Given the description of an element on the screen output the (x, y) to click on. 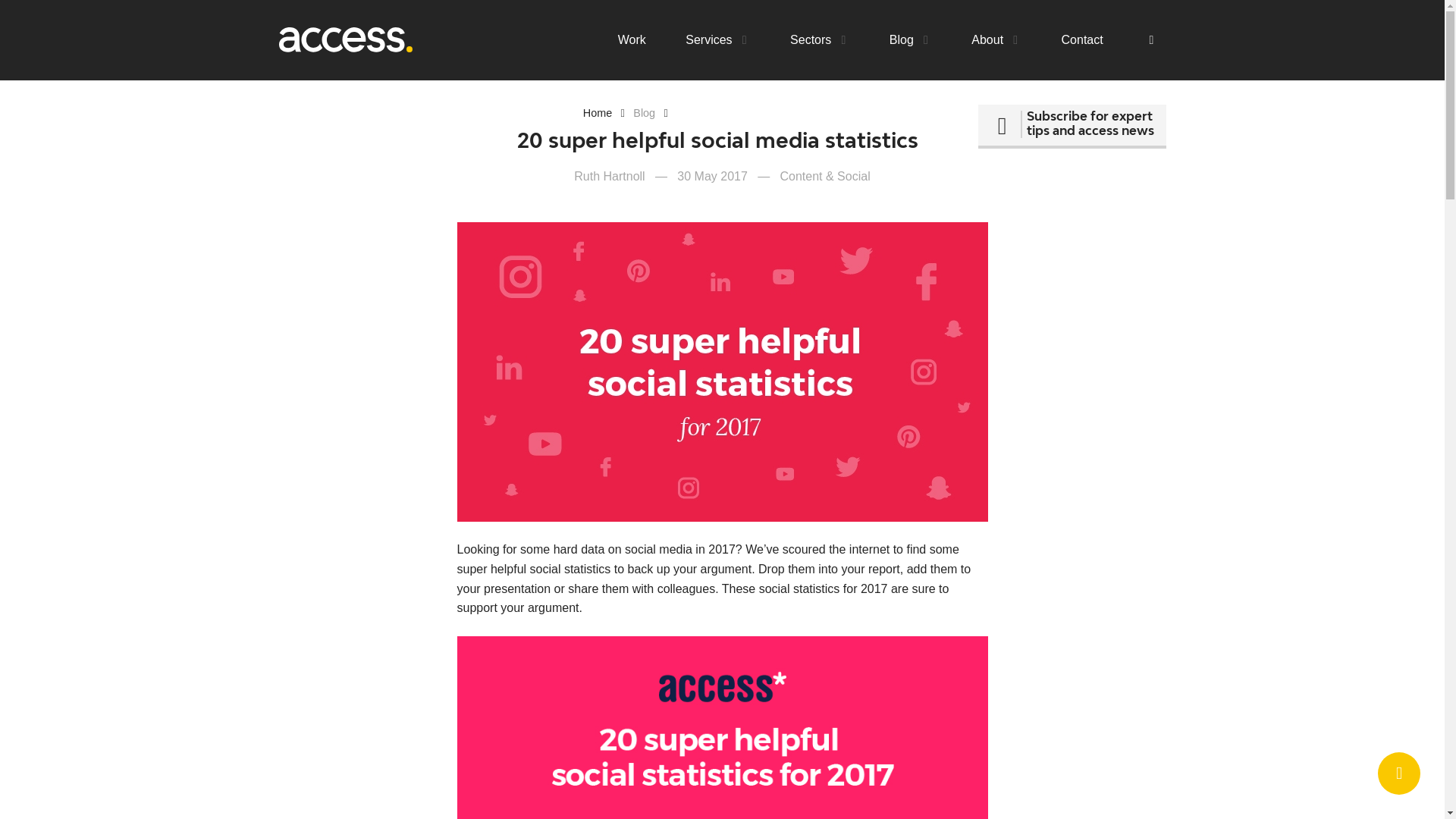
Services (717, 40)
Home (597, 112)
Blog (644, 112)
Search (915, 106)
Go back to the home page (345, 39)
